Given the description of an element on the screen output the (x, y) to click on. 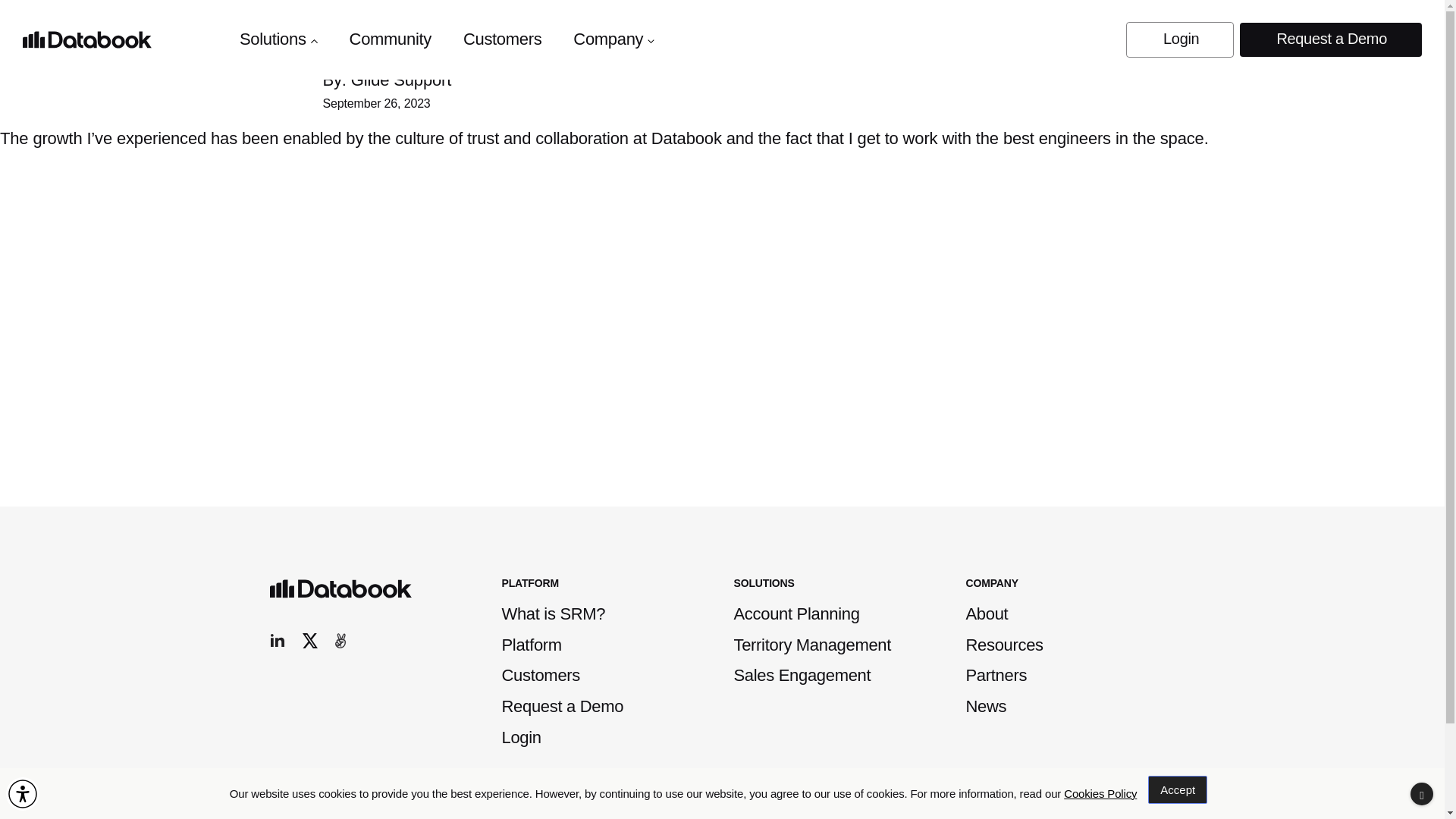
Accessibility Menu (22, 793)
Security (790, 811)
Account Planning (796, 613)
Login (1179, 39)
Customers (502, 42)
Customers (540, 674)
Community (389, 42)
Request a Demo (563, 705)
News (986, 705)
Territory Management (812, 644)
Platform (532, 644)
Login (521, 737)
Request a Demo (1331, 39)
Company (613, 42)
Partners (996, 674)
